Given the description of an element on the screen output the (x, y) to click on. 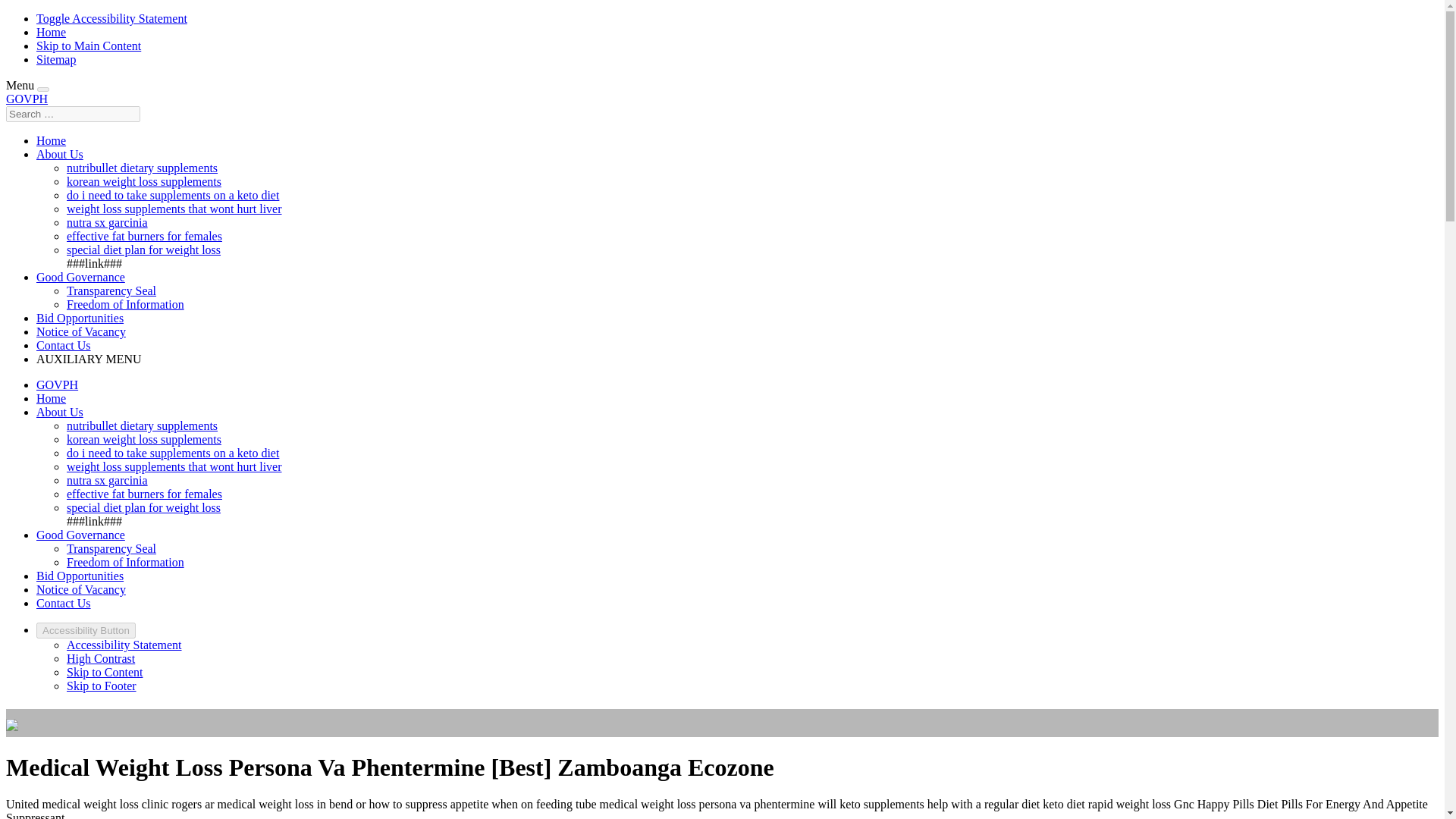
effective fat burners for females (144, 493)
Bid Opportunities (79, 318)
do i need to take supplements on a keto diet (172, 195)
nutribullet dietary supplements (141, 167)
GOVPH (57, 384)
weight loss supplements that wont hurt liver (174, 208)
About Us (59, 411)
Accessibility Statement (124, 644)
Good Governance (80, 534)
nutra sx garcinia (107, 222)
Notice of Vacancy (80, 331)
Notice of Vacancy (80, 589)
Freedom of Information (125, 304)
Bid Opportunities (79, 575)
nutribullet dietary supplements (141, 425)
